Given the description of an element on the screen output the (x, y) to click on. 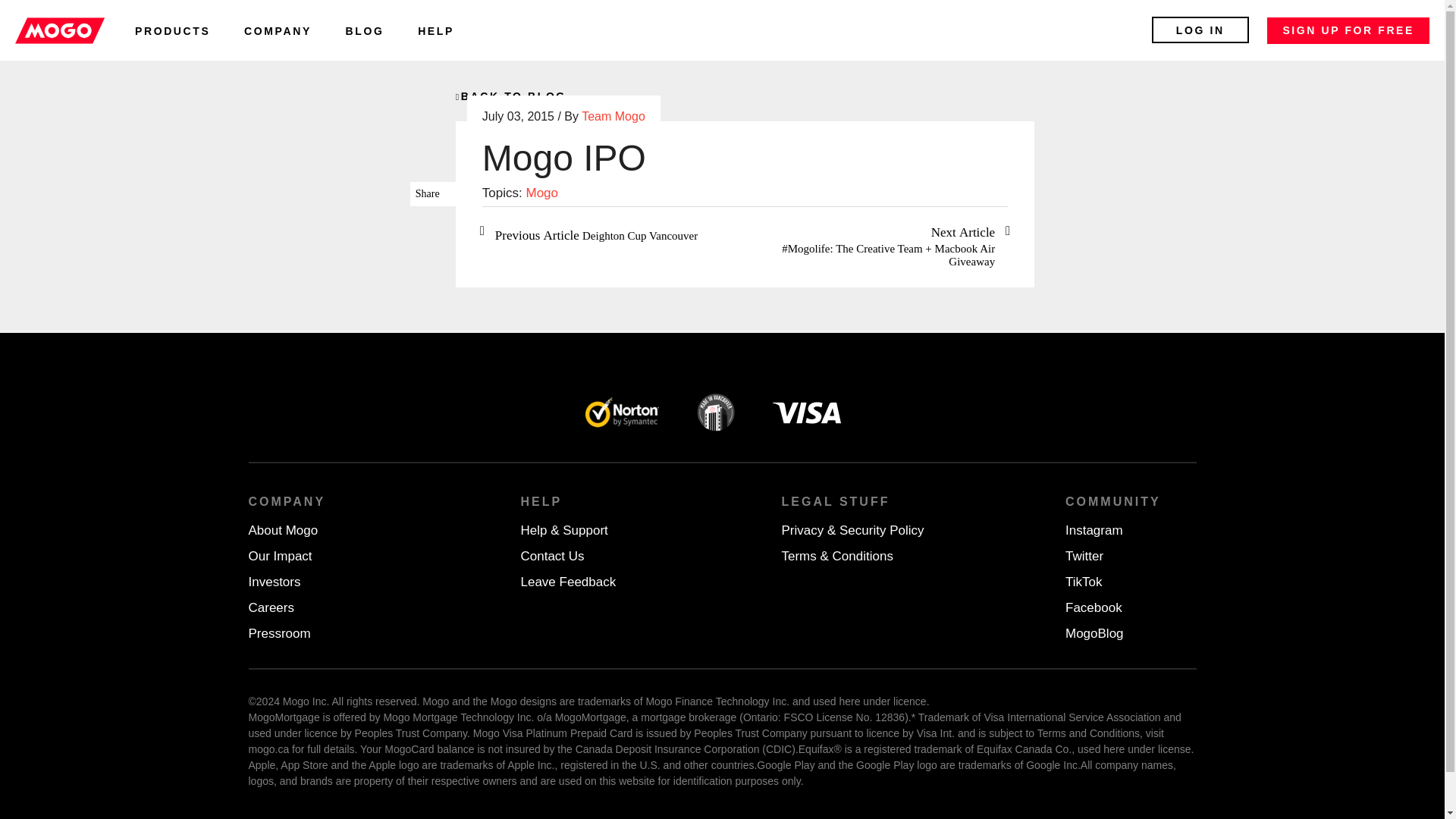
LOG IN (1200, 29)
PRODUCTS (172, 30)
BACK TO BLOG (510, 95)
SIGN UP FOR FREE (1347, 30)
COMPANY (277, 30)
